Given the description of an element on the screen output the (x, y) to click on. 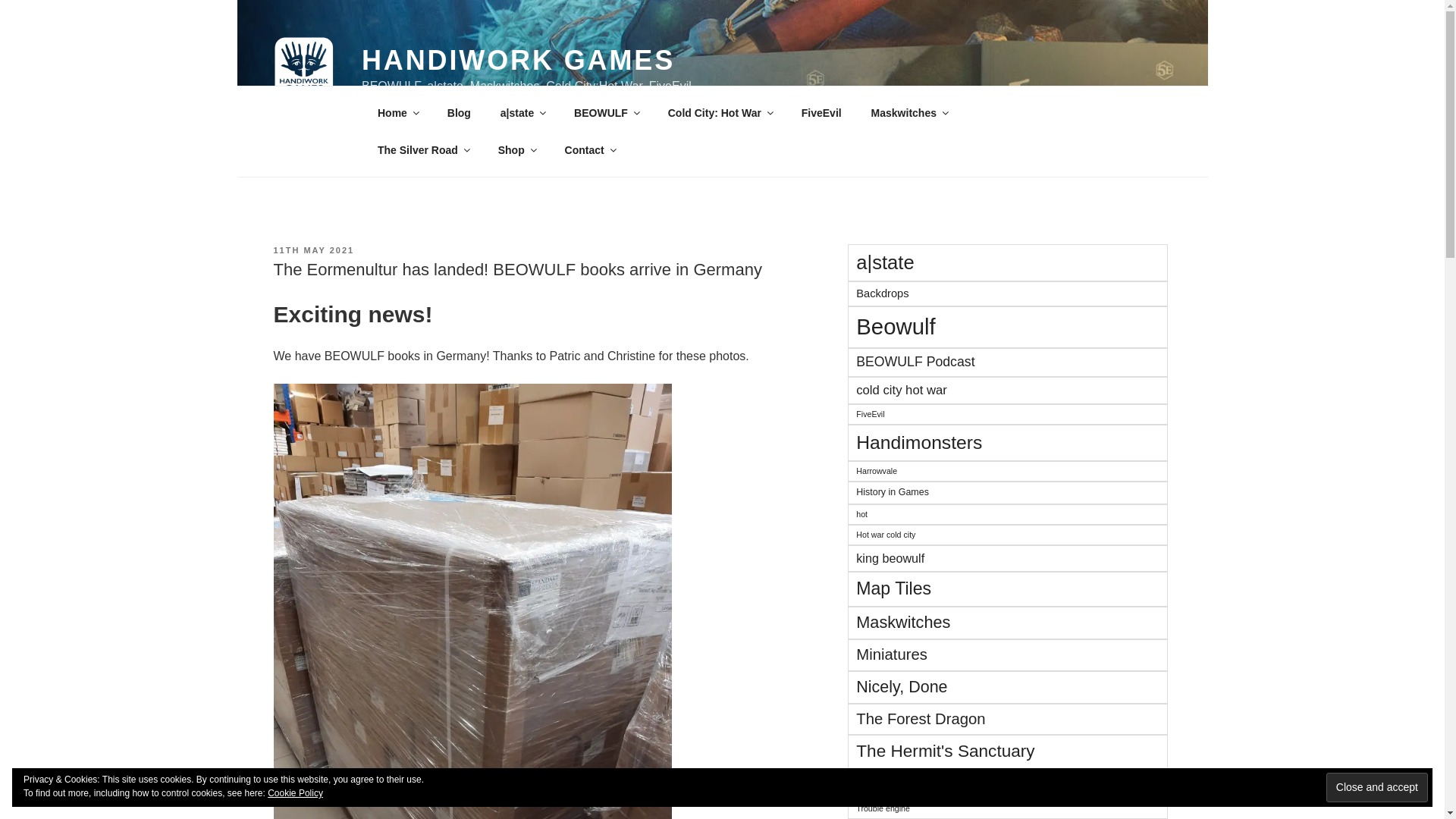
Home (397, 112)
Blog (458, 112)
Close and accept (1377, 787)
HANDIWORK GAMES (518, 60)
BEOWULF (606, 112)
